Given the description of an element on the screen output the (x, y) to click on. 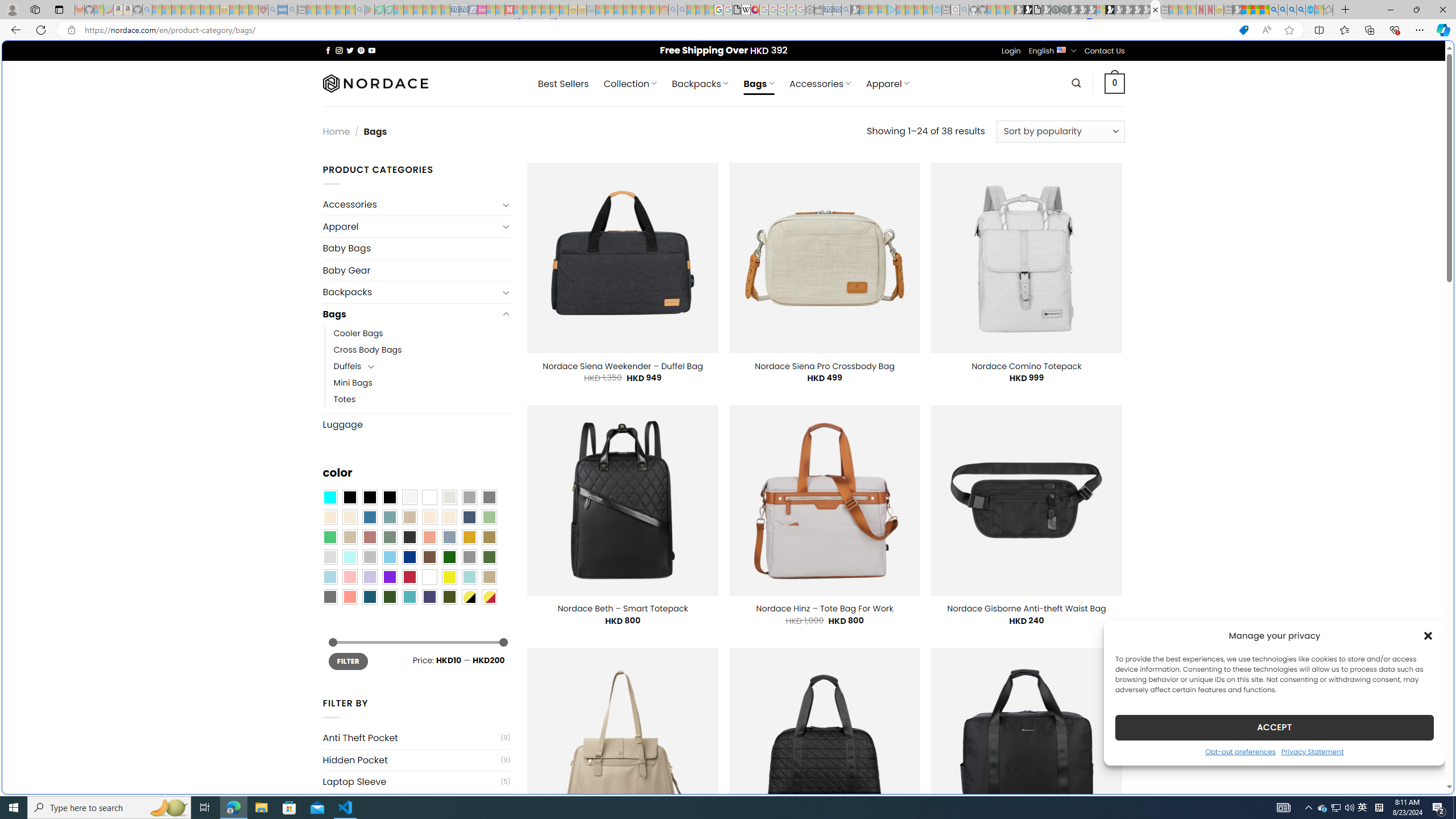
Frequently visited (965, 151)
Sage (389, 536)
Laptop Sleeve(5) (416, 781)
Login (1010, 50)
